Given the description of an element on the screen output the (x, y) to click on. 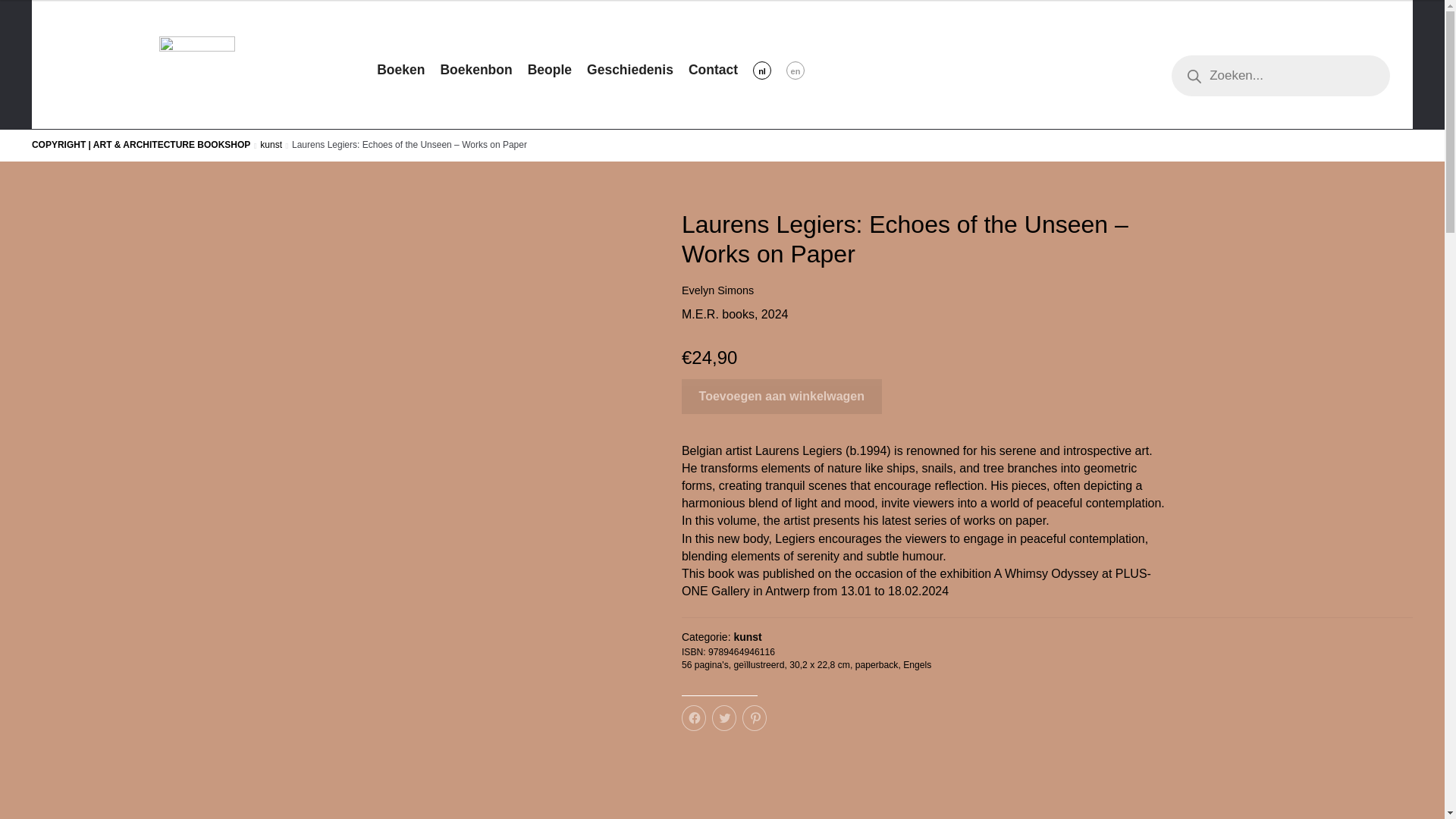
Boeken (408, 69)
kunst (271, 144)
EN (802, 69)
Toevoegen aan winkelwagen (781, 396)
Klik om op Pinterest te delen (754, 718)
en (802, 69)
Beople (556, 69)
nl (769, 69)
kunst (747, 636)
Contact (720, 69)
